Given the description of an element on the screen output the (x, y) to click on. 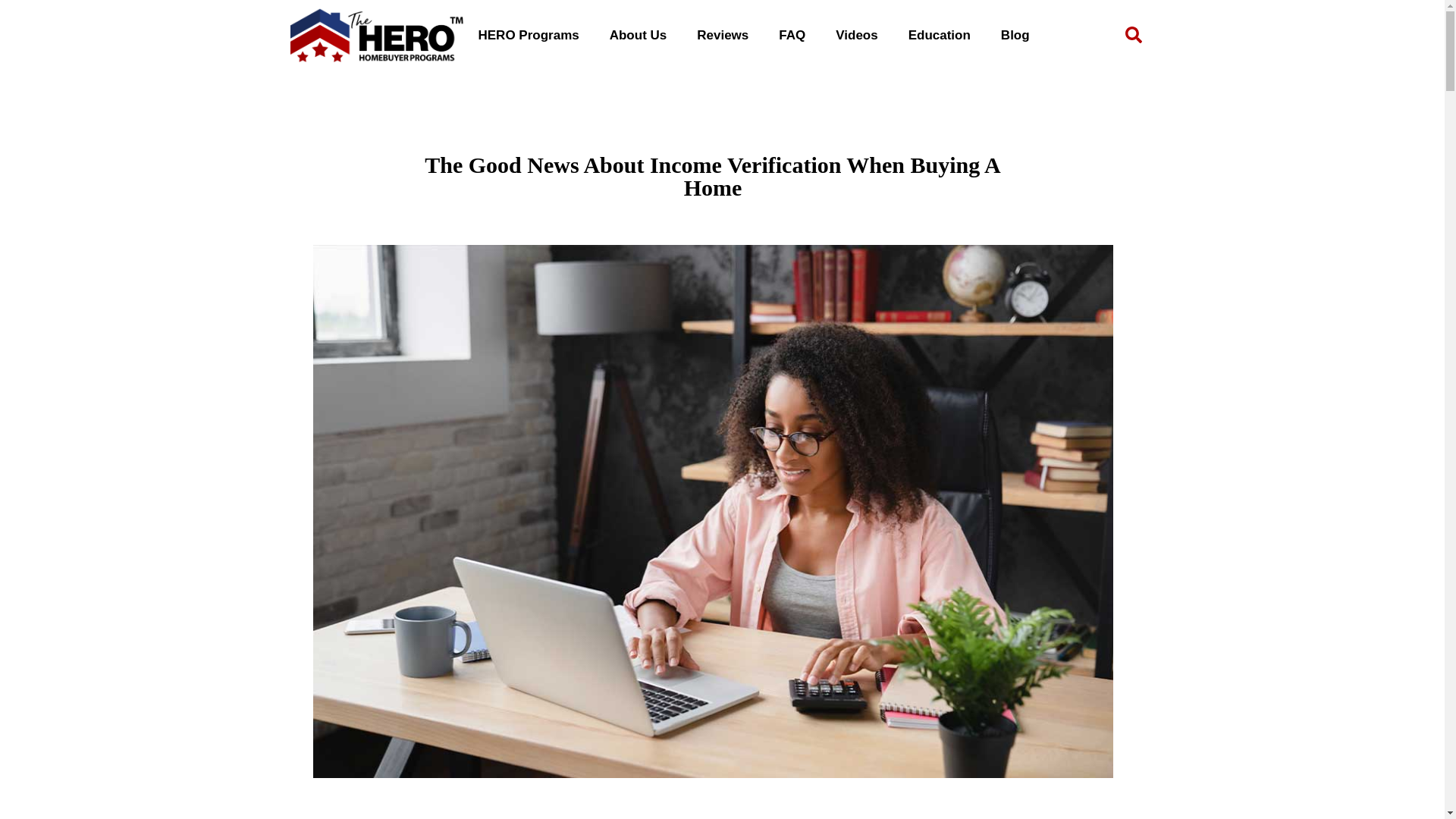
Videos (856, 34)
HERO Programs (528, 34)
Education (939, 34)
Reviews (721, 34)
Blog (1015, 34)
About Us (638, 34)
FAQ (791, 34)
